Given the description of an element on the screen output the (x, y) to click on. 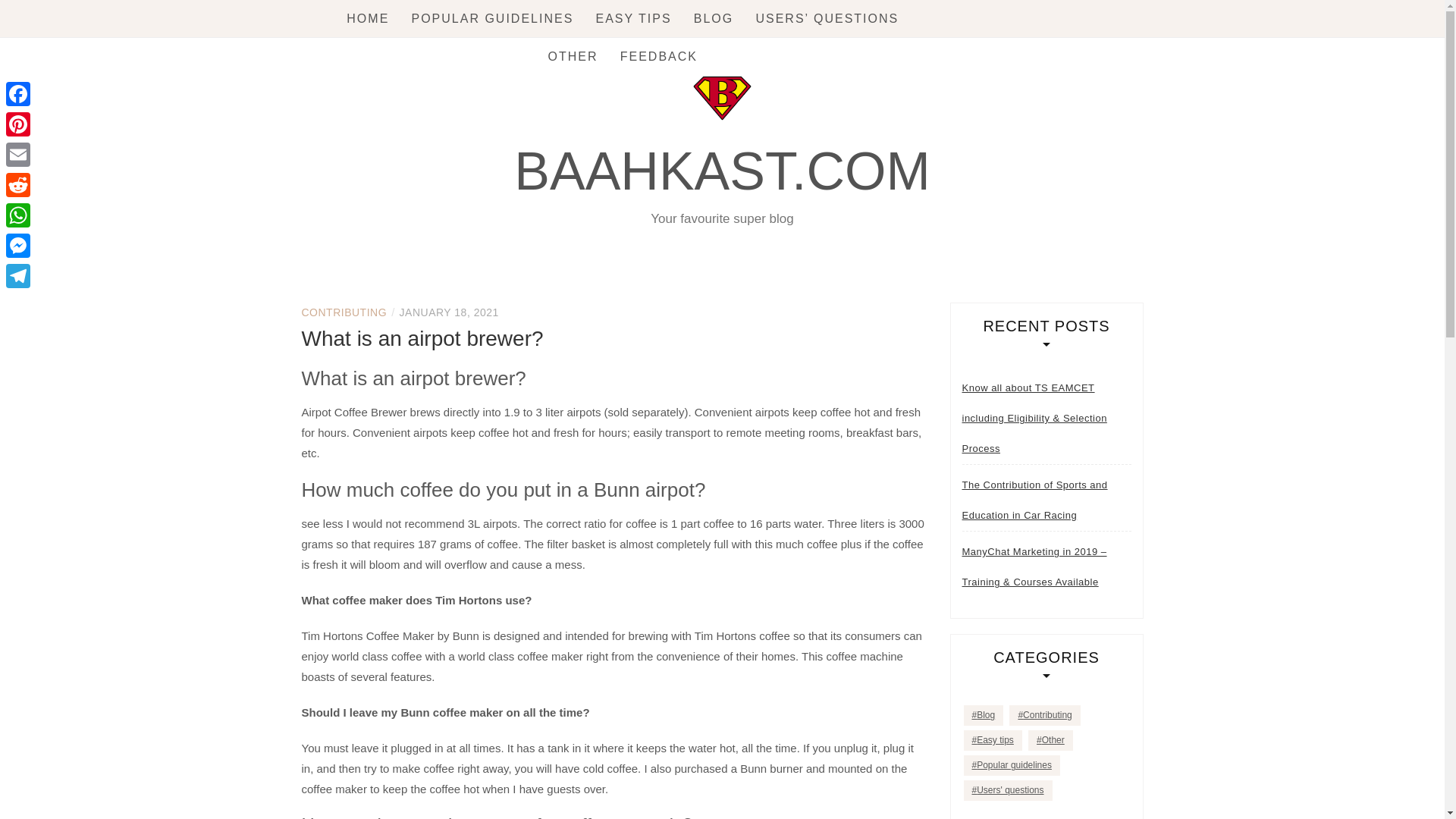
OTHER (573, 56)
CONTRIBUTING (344, 312)
WhatsApp (17, 214)
Facebook (17, 93)
POPULAR GUIDELINES (491, 18)
BAAHKAST.COM (721, 170)
Telegram (17, 276)
Pinterest (17, 123)
The Contribution of Sports and Education in Car Racing (1045, 500)
Email (17, 154)
